Given the description of an element on the screen output the (x, y) to click on. 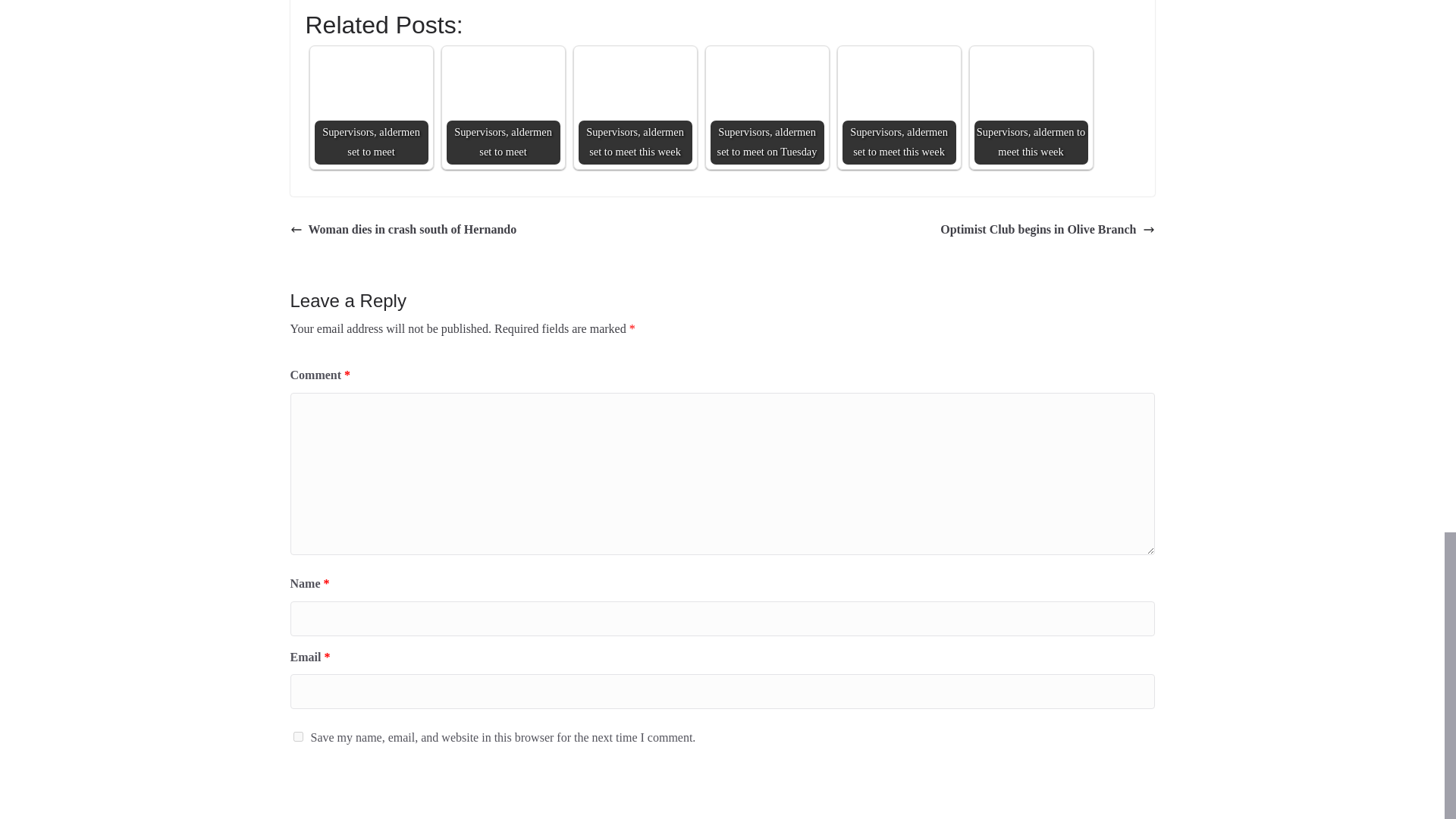
Supervisors, aldermen set to meet this week (898, 107)
Supervisors, aldermen to meet this week (1030, 88)
Supervisors, aldermen set to meet this week (634, 107)
Supervisors, aldermen set to meet (371, 88)
yes (297, 737)
Supervisors, aldermen set to meet on Tuesday (767, 88)
Supervisors, aldermen set to meet (502, 88)
